Given the description of an element on the screen output the (x, y) to click on. 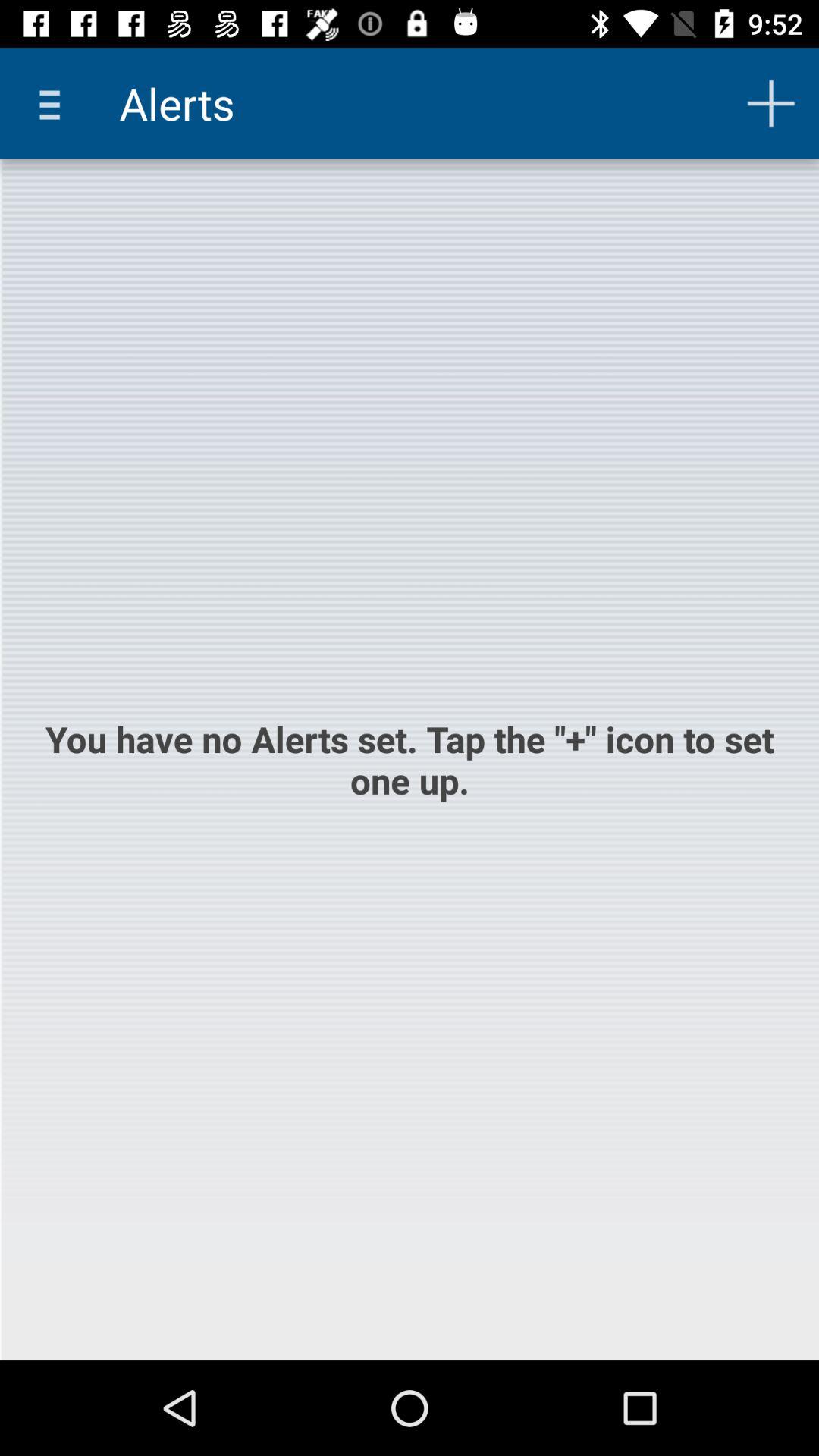
press icon next to the alerts icon (55, 103)
